Given the description of an element on the screen output the (x, y) to click on. 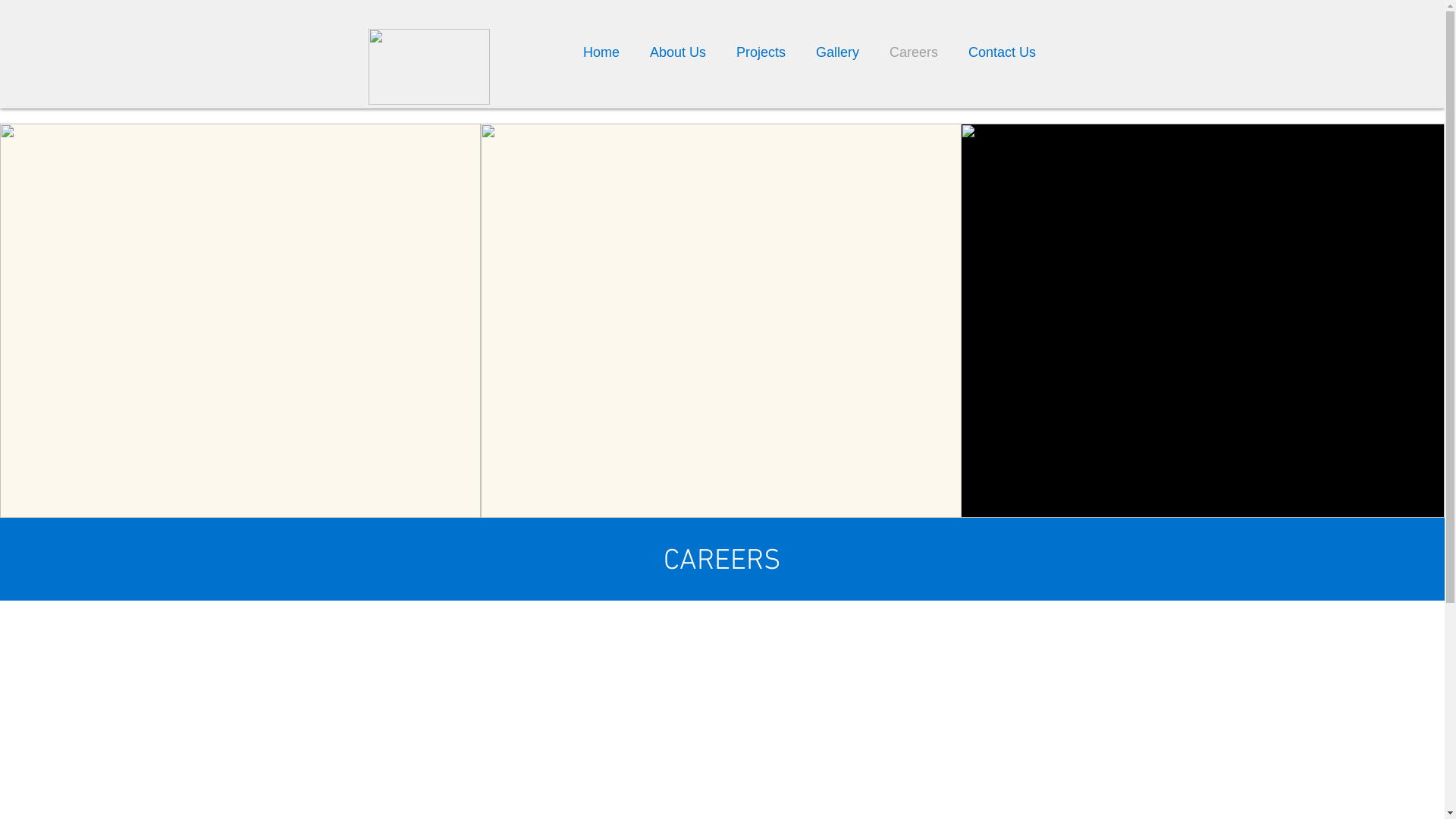
Careers Element type: text (913, 51)
About Us Element type: text (677, 51)
Home Element type: text (600, 51)
Contact Us Element type: text (1002, 51)
Projects Element type: text (760, 51)
